Given the description of an element on the screen output the (x, y) to click on. 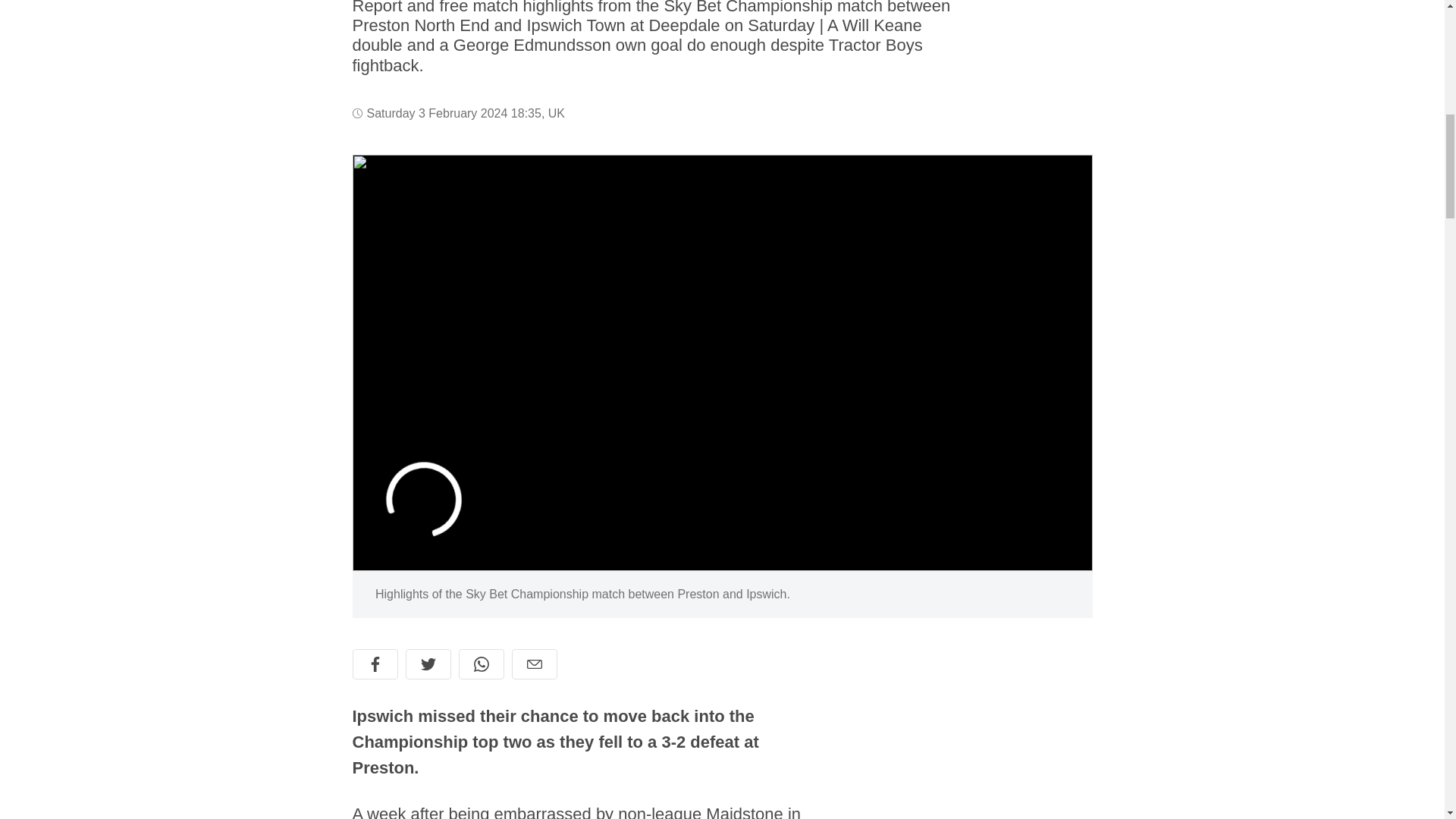
Share on Facebook (374, 664)
Share on WhatsApp (480, 664)
Share on Twitter (426, 664)
Share by email (533, 664)
